Given the description of an element on the screen output the (x, y) to click on. 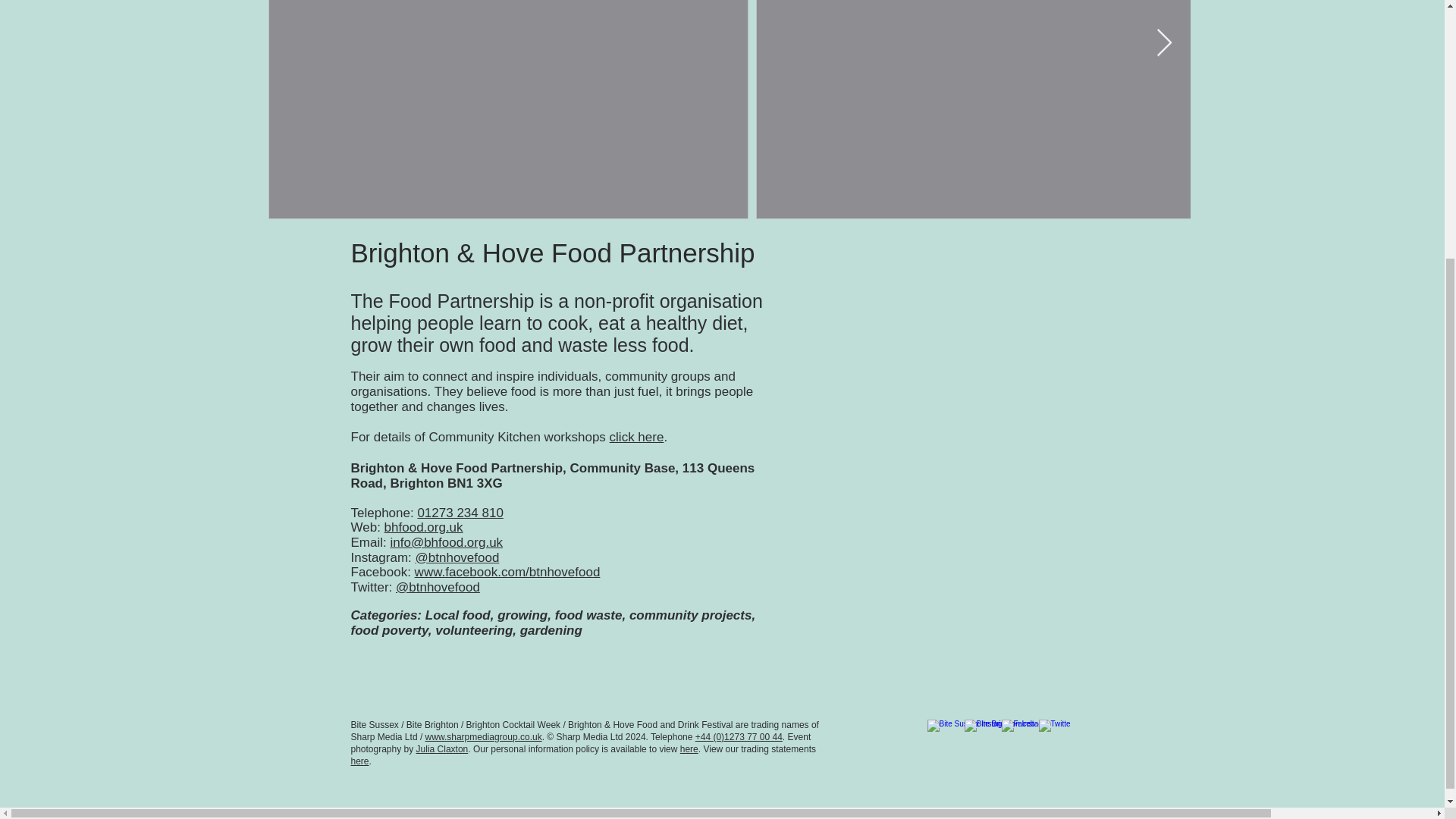
here (359, 760)
click here (636, 436)
Julia Claxton (442, 748)
bhfood.org.uk (423, 527)
www.sharpmediagroup.co.uk (483, 737)
here (688, 748)
01273 234 810 (459, 513)
